Given the description of an element on the screen output the (x, y) to click on. 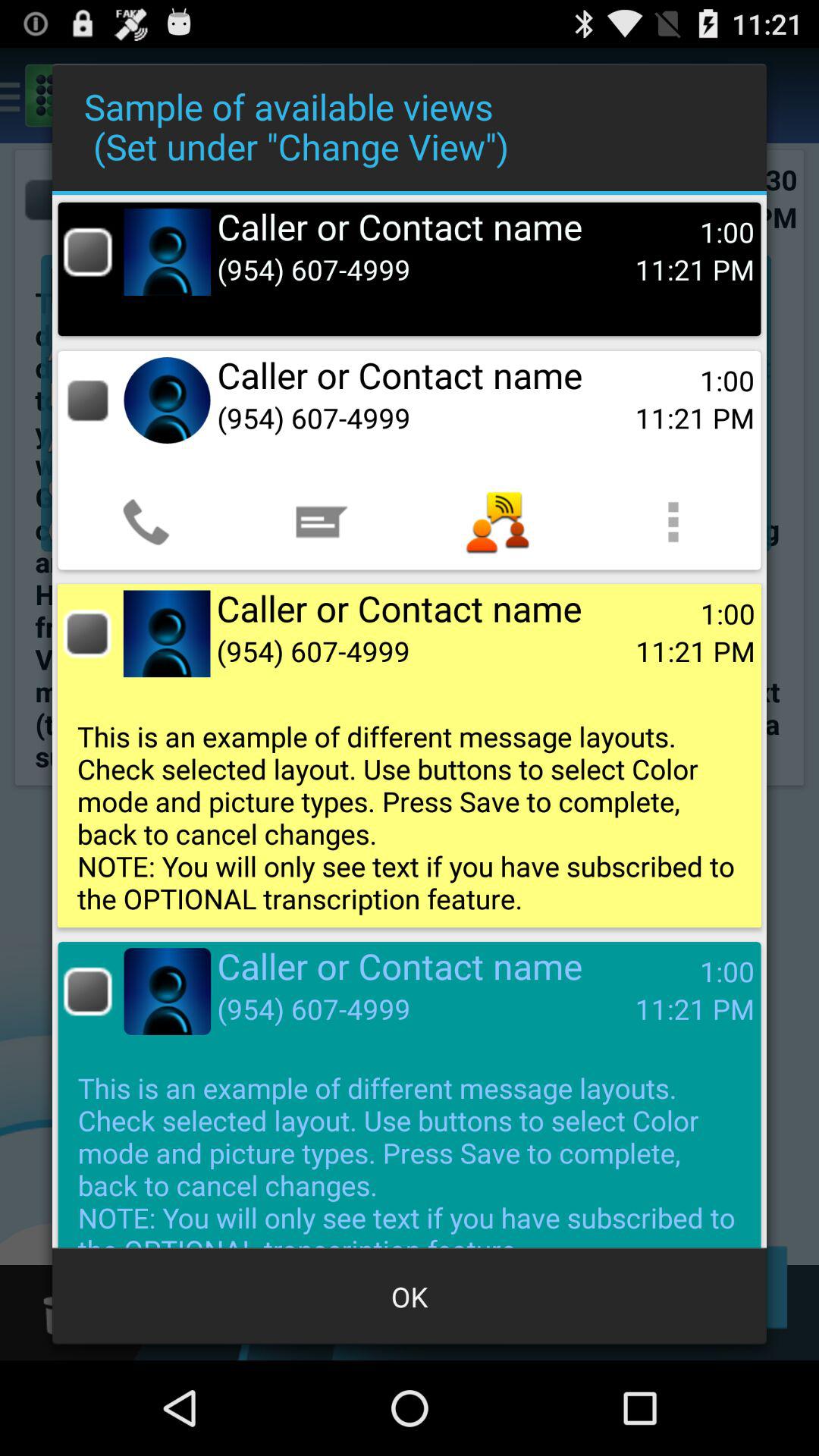
open the app below (954) 607-4999 app (497, 521)
